Given the description of an element on the screen output the (x, y) to click on. 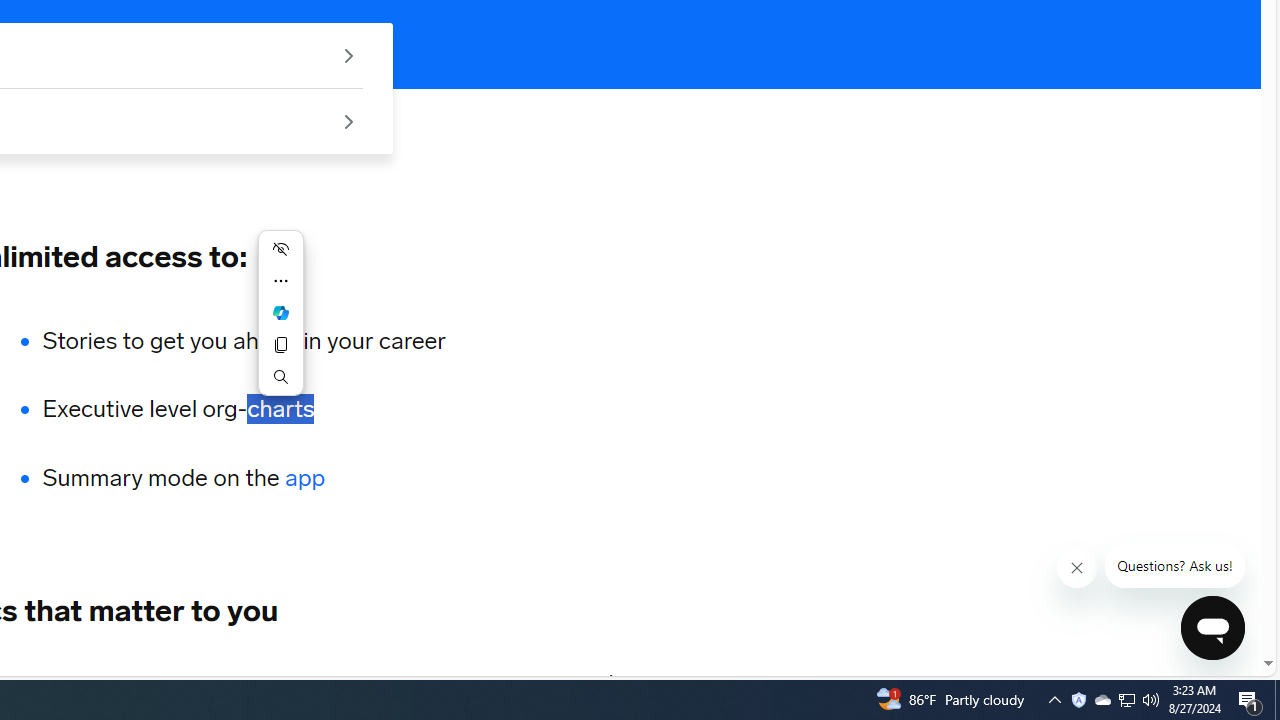
See group offers (348, 120)
Hide menu (280, 248)
Class: sc-1k07fow-1 cbnSms (1212, 627)
Copy (280, 344)
Class: sc-1uf0igr-1 fjHZYk (1076, 568)
Mini menu on text selection (280, 324)
Executive level org-charts (243, 409)
MEDIA (612, 681)
HEALTHCARE (130, 681)
EXECUTIVE LIFESTYLE (320, 681)
More actions (280, 280)
Mini menu on text selection (280, 313)
app (305, 477)
Close message from company (1077, 567)
